Given the description of an element on the screen output the (x, y) to click on. 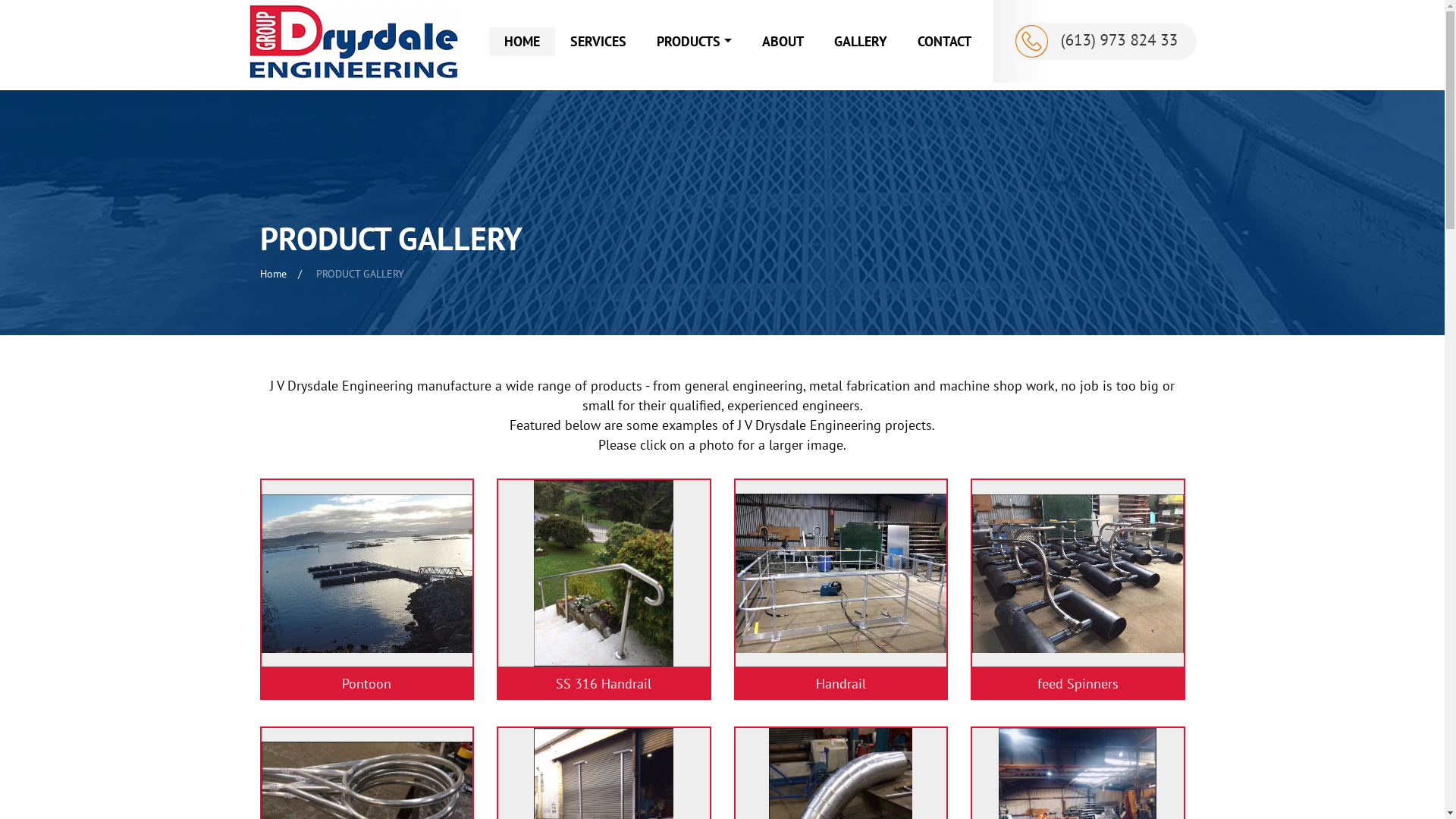
ABOUT Element type: text (782, 41)
HOME
(CURRENT) Element type: text (522, 41)
SERVICES Element type: text (598, 41)
PRODUCTS Element type: text (693, 41)
Home Element type: text (272, 273)
GALLERY Element type: text (860, 41)
CONTACT Element type: text (944, 41)
